Given the description of an element on the screen output the (x, y) to click on. 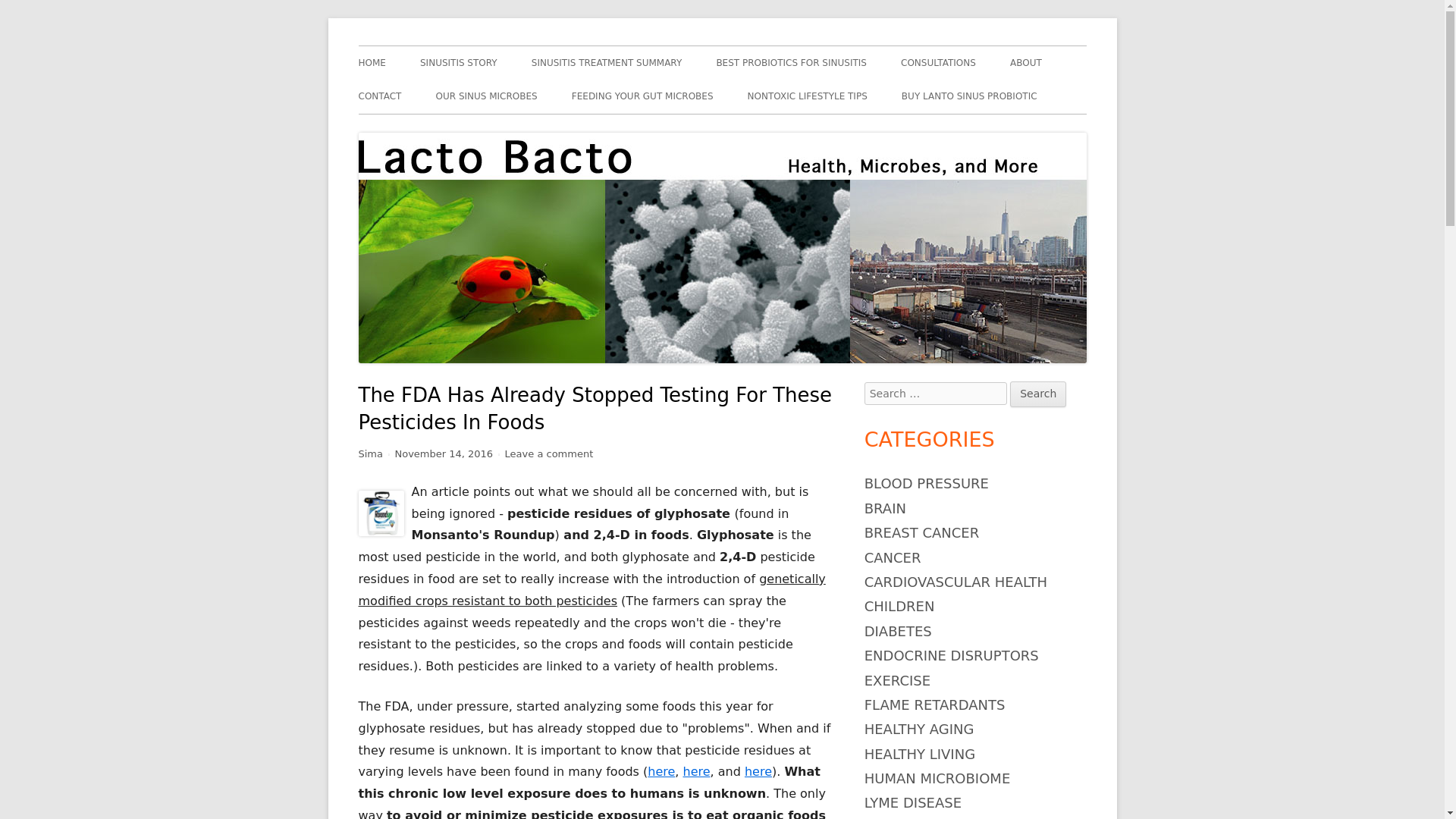
here (696, 771)
Sima (370, 453)
CONTACT (379, 96)
ABOUT (1026, 62)
here (757, 771)
here (661, 771)
Search (1037, 394)
Lacto Bacto (416, 45)
BEST PROBIOTICS FOR SINUSITIS (791, 62)
FEEDING YOUR GUT MICROBES (642, 96)
Search (1037, 394)
CONSULTATIONS (938, 62)
NONTOXIC LIFESTYLE TIPS (807, 96)
SINUSITIS TREATMENT SUMMARY (606, 62)
